Given the description of an element on the screen output the (x, y) to click on. 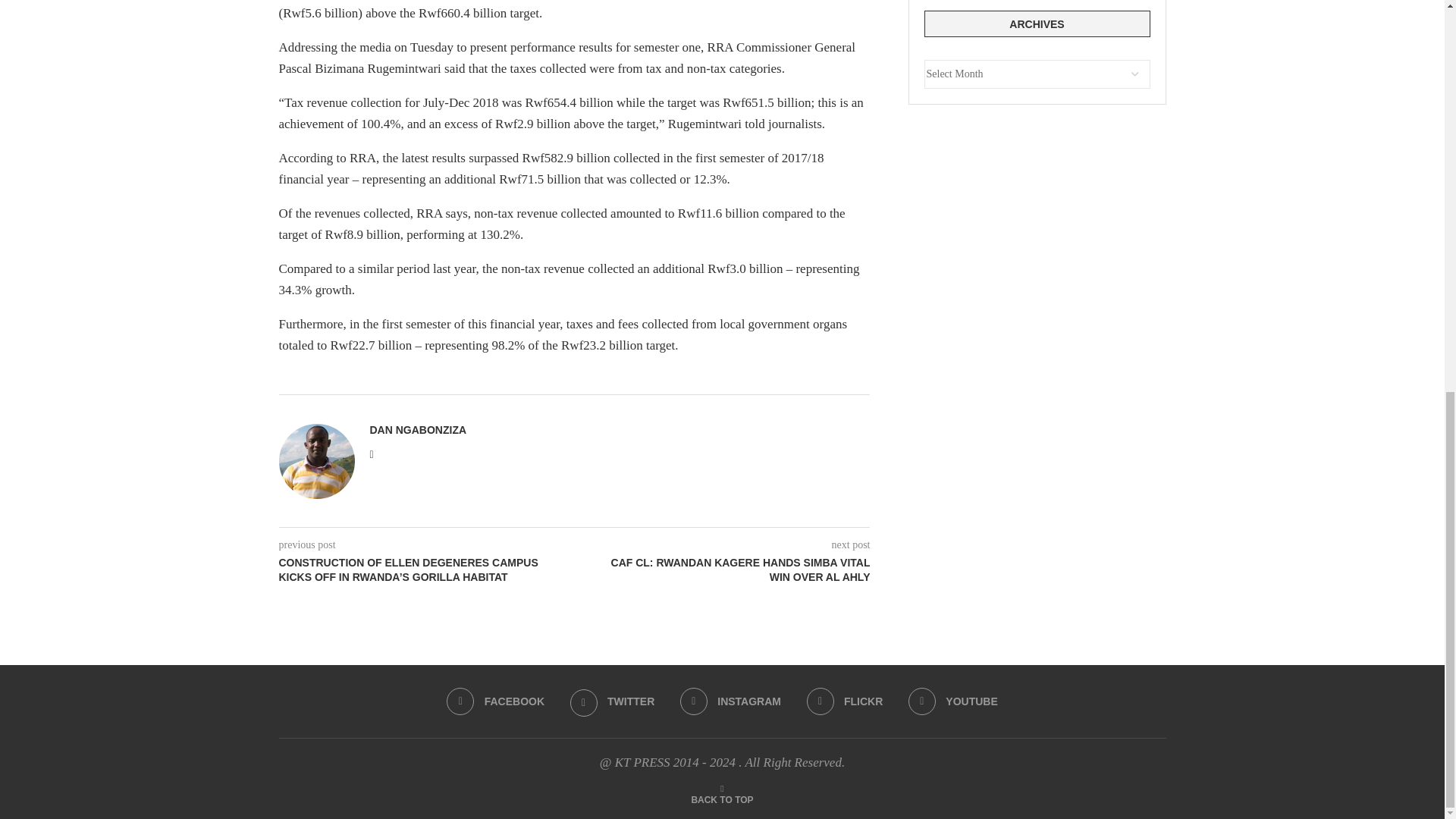
Author Dan Ngabonziza (418, 429)
CAF CL: RWANDAN KAGERE HANDS SIMBA VITAL WIN OVER AL AHLY (722, 570)
DAN NGABONZIZA (418, 429)
